Given the description of an element on the screen output the (x, y) to click on. 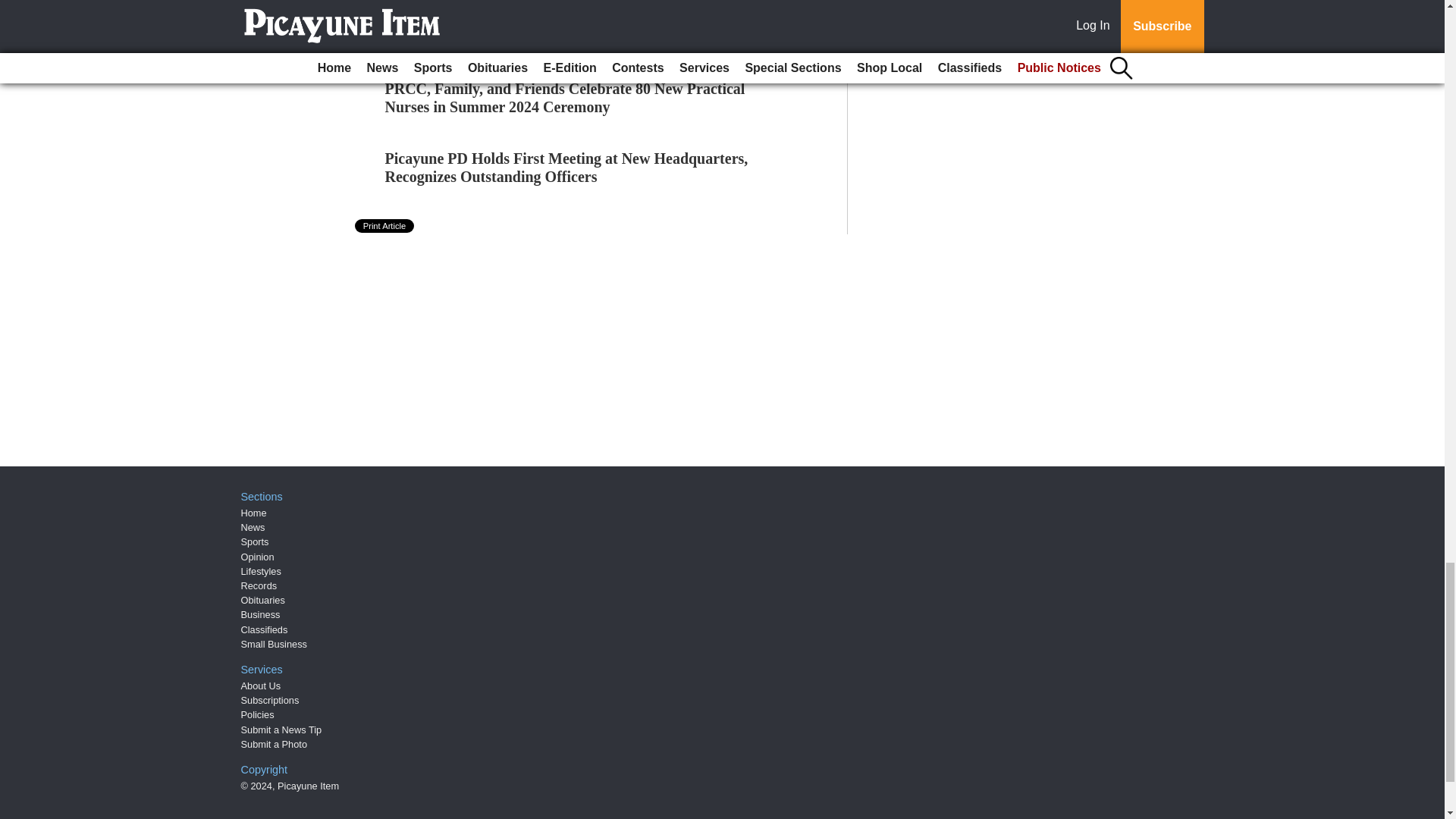
Print Article (384, 225)
